Given the description of an element on the screen output the (x, y) to click on. 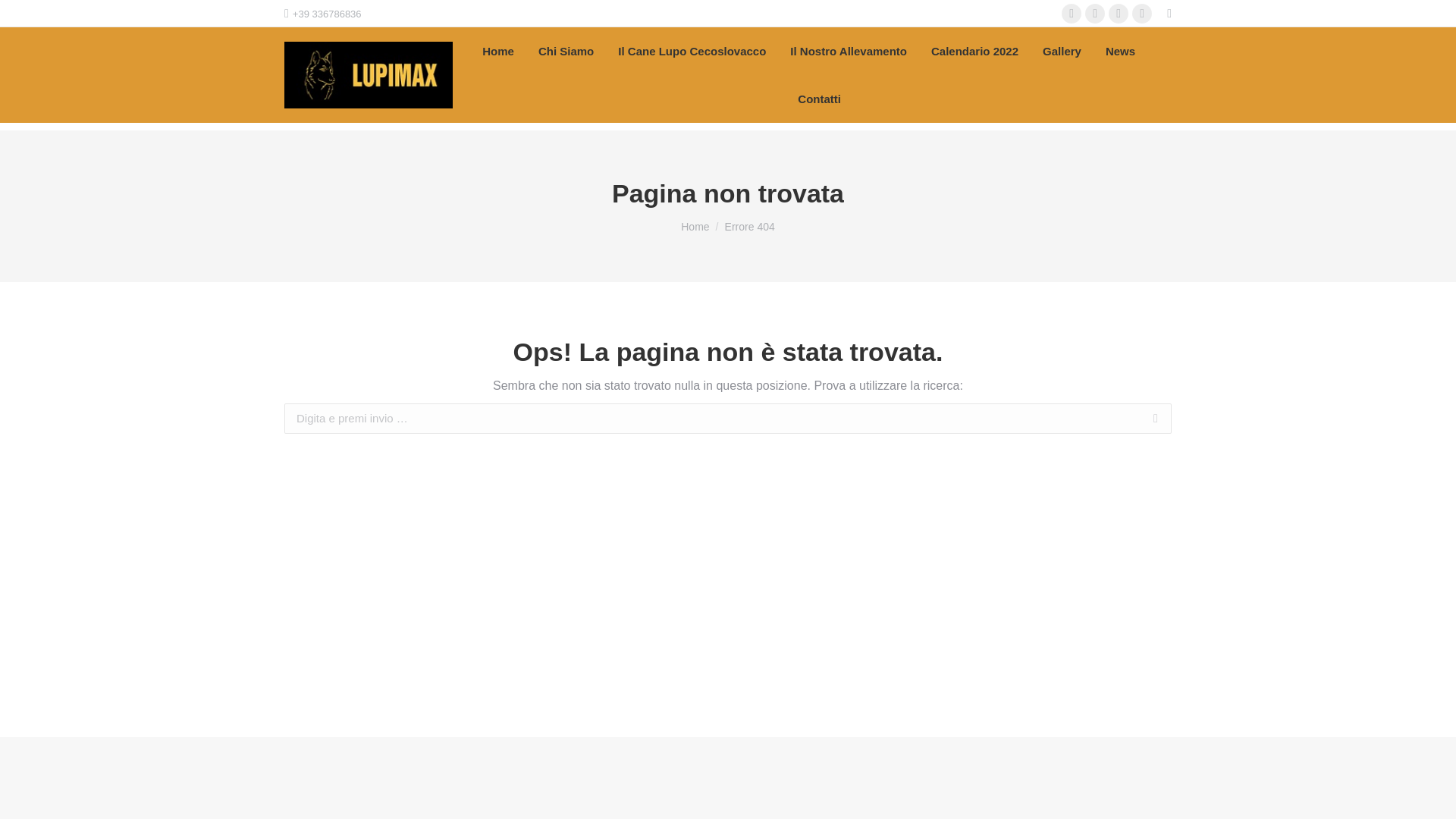
Whatsapp page opens in new window (1141, 13)
Facebook page opens in new window (1071, 13)
YouTube page opens in new window (1118, 13)
Contatti (819, 98)
Calendario 2022 (975, 50)
YouTube page opens in new window (1118, 13)
Whatsapp page opens in new window (1141, 13)
Gallery (1062, 50)
Instagram page opens in new window (1094, 13)
Chi Siamo (566, 50)
